Given the description of an element on the screen output the (x, y) to click on. 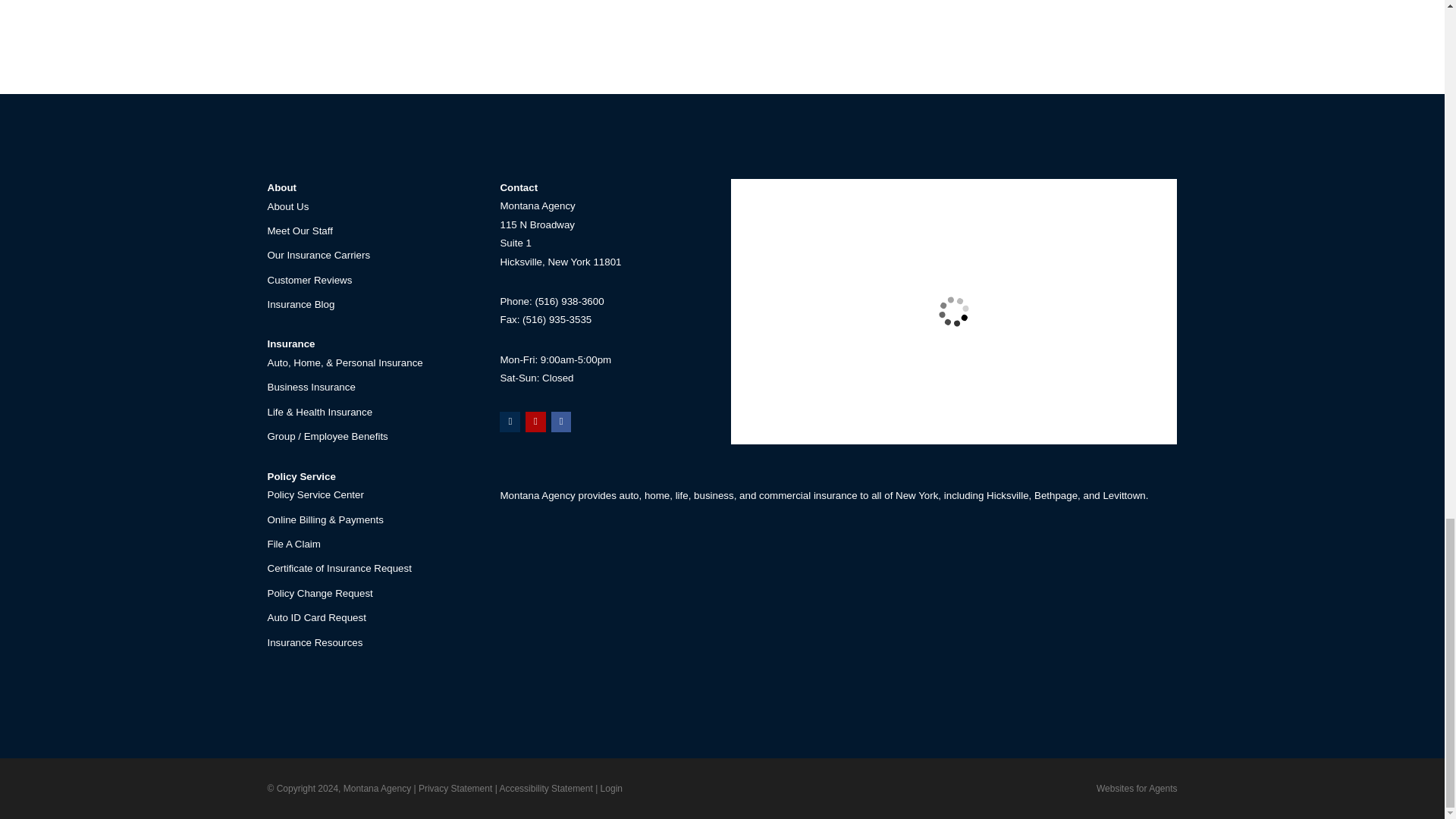
Facebook (561, 421)
Yelp (535, 421)
Google Maps (509, 421)
